Given the description of an element on the screen output the (x, y) to click on. 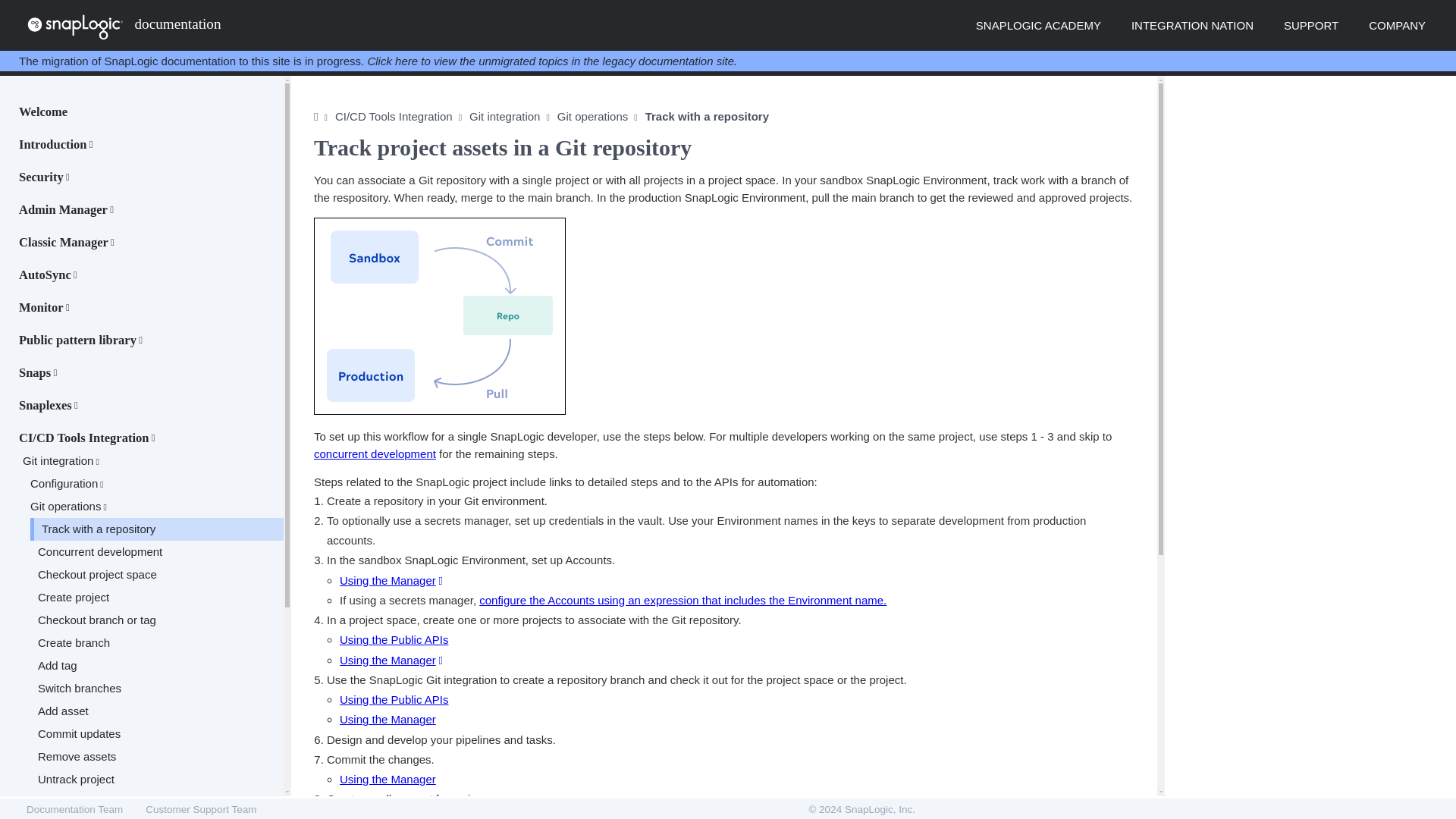
Welcome (43, 106)
Security (44, 171)
COMPANY (1396, 24)
SNAPLOGIC ACADEMY (1037, 24)
Introduction (55, 139)
INTEGRATION NATION (1192, 24)
Admin Manager (65, 204)
SUPPORT (1311, 24)
